Given the description of an element on the screen output the (x, y) to click on. 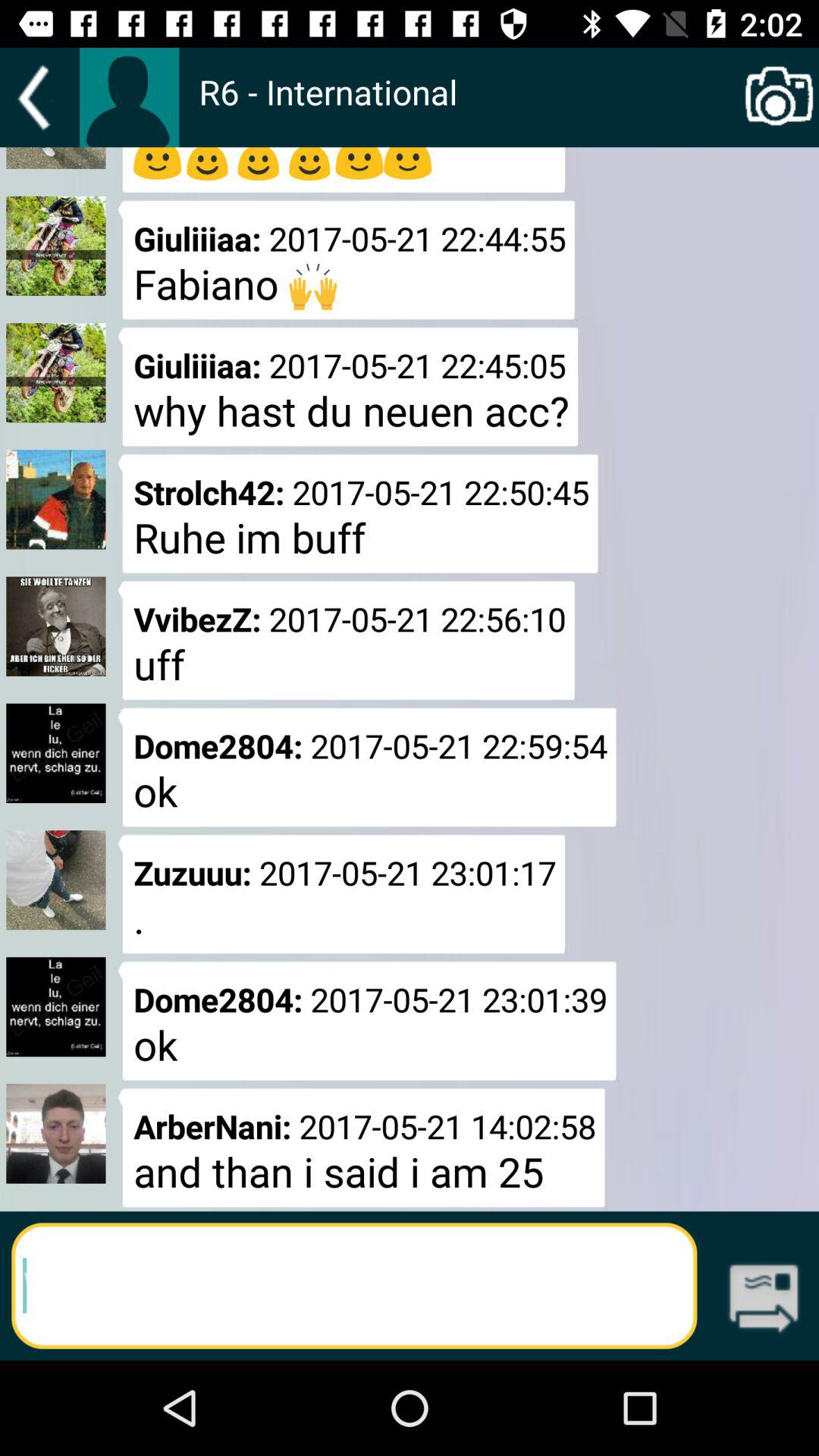
turn off vvibezz 2017 05 icon (346, 639)
